Given the description of an element on the screen output the (x, y) to click on. 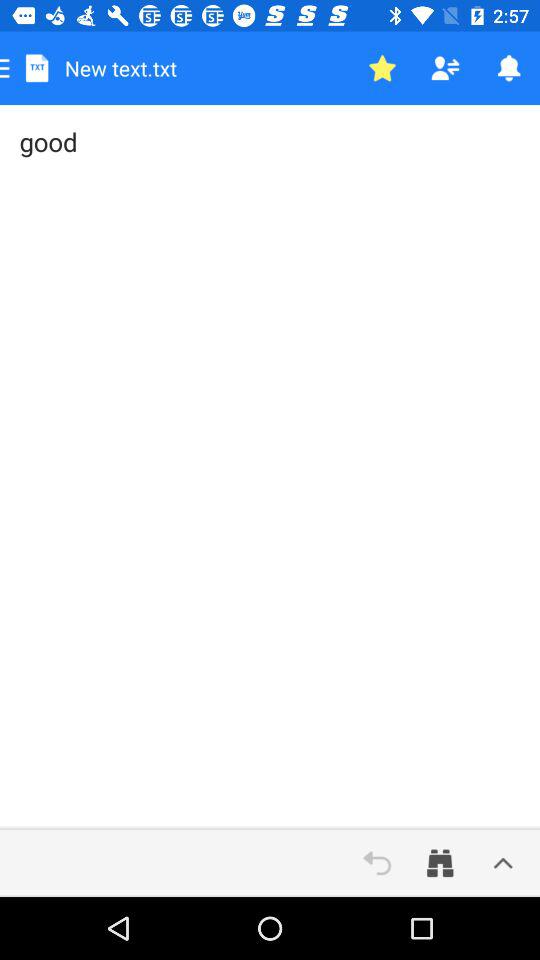
open the item above good (381, 68)
